Given the description of an element on the screen output the (x, y) to click on. 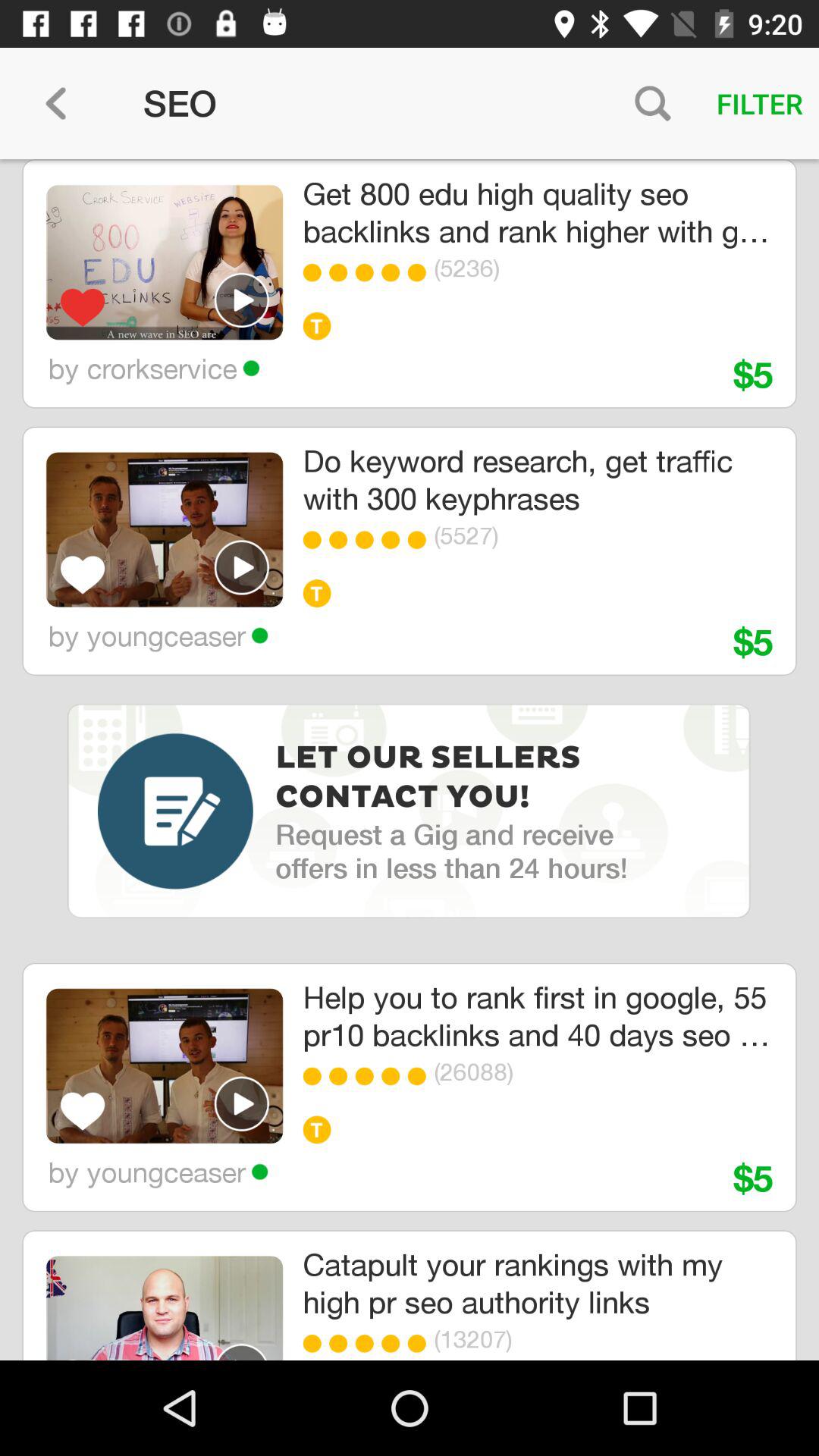
click item below the do keyword research (394, 539)
